Given the description of an element on the screen output the (x, y) to click on. 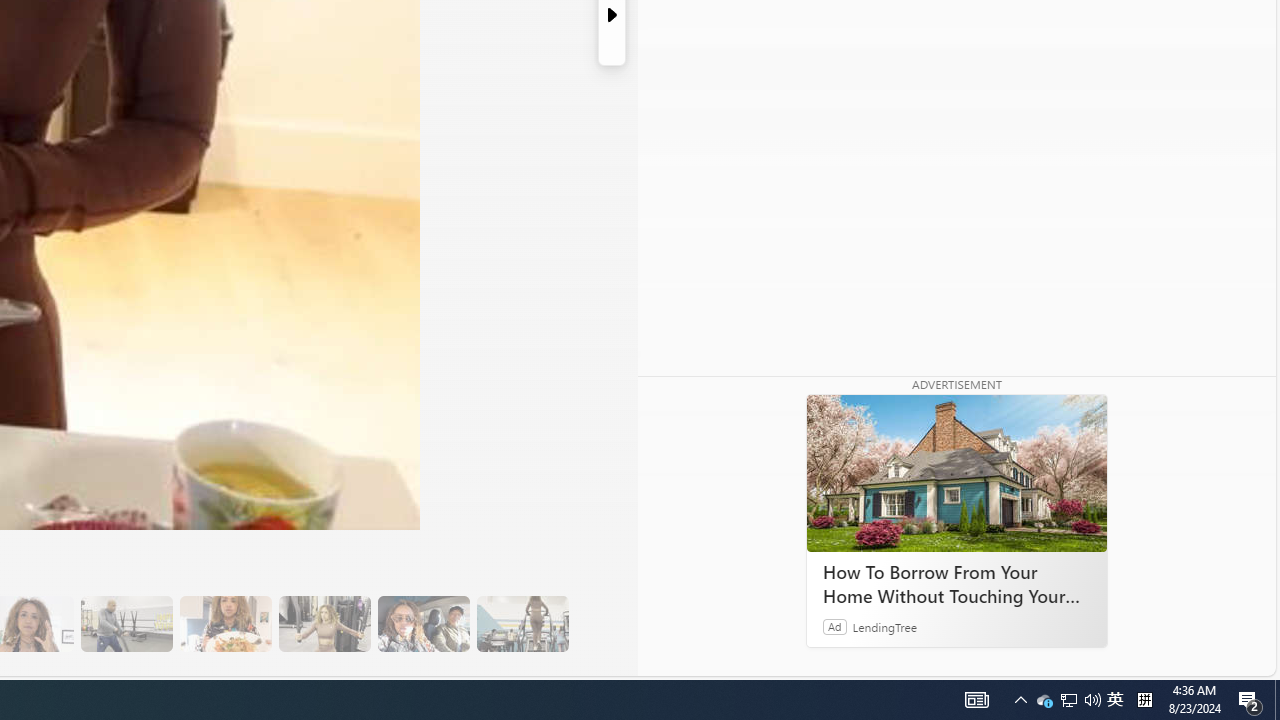
15 They Also Indulge in a Low-Calorie Sweet Treat (324, 624)
16 The Couple's Program Helps with Accountability (423, 624)
How To Borrow From Your Home Without Touching Your Mortgage (956, 583)
16 The Couple's Program Helps with Accountability (423, 624)
How To Borrow From Your Home Without Touching Your Mortgage (956, 473)
LendingTree (884, 626)
See more (741, 660)
Ad (835, 626)
Feedback (1199, 659)
13 Her Husband Does Group Cardio Classs (125, 624)
15 They Also Indulge in a Low-Calorie Sweet Treat (324, 624)
14 They Have Salmon and Veggies for Dinner (225, 624)
